Given the description of an element on the screen output the (x, y) to click on. 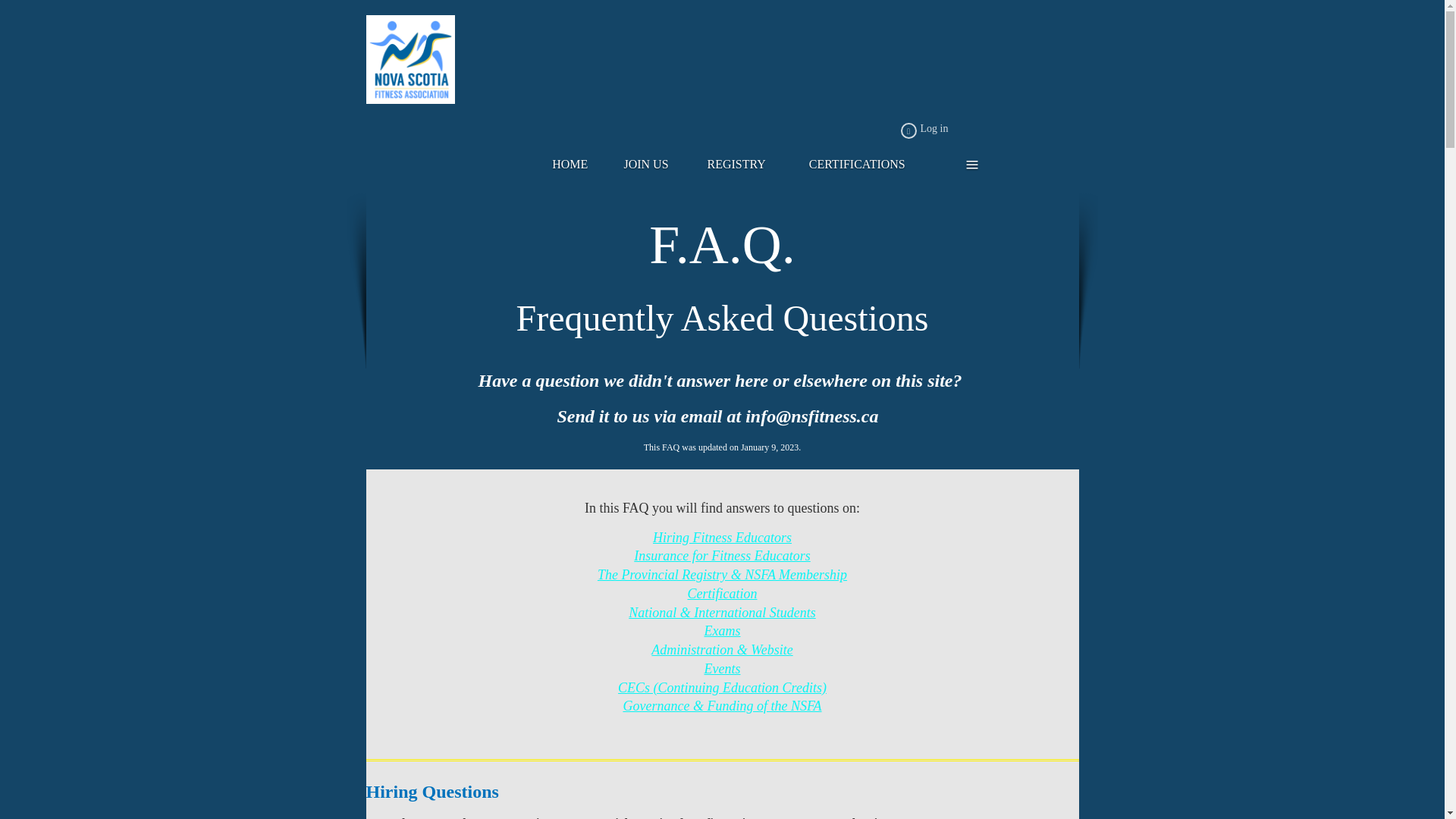
Join us (654, 164)
Certification (722, 593)
Exams (721, 630)
Events (721, 668)
Insurance for Fitness Educators (721, 555)
JOIN US (654, 164)
Registry (744, 164)
HOME (578, 164)
Log in (925, 130)
Home (578, 164)
Hiring Fitness Educators (722, 536)
REGISTRY (744, 164)
CERTIFICATIONS (866, 164)
Certifications (866, 164)
